Given the description of an element on the screen output the (x, y) to click on. 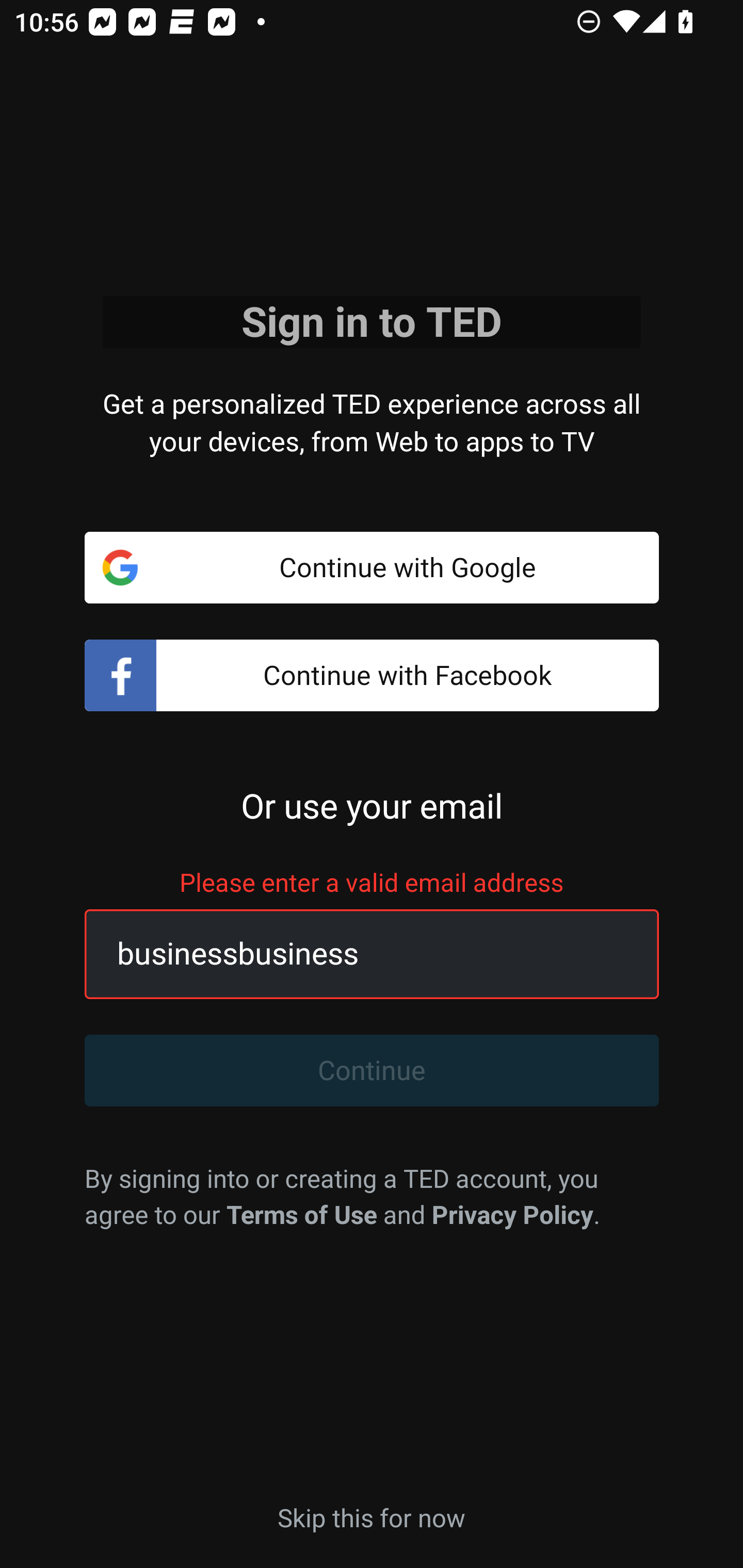
Continue with Google (371, 567)
Continue with Facebook (371, 675)
businessbusiness (349, 953)
Continue (371, 1070)
Skip this for now (371, 1516)
